Given the description of an element on the screen output the (x, y) to click on. 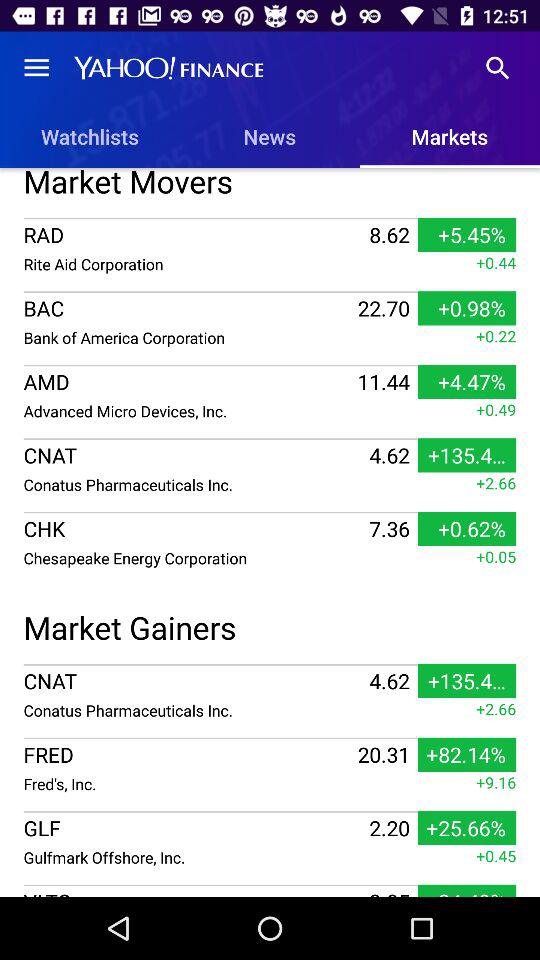
choose the bac item (187, 308)
